Given the description of an element on the screen output the (x, y) to click on. 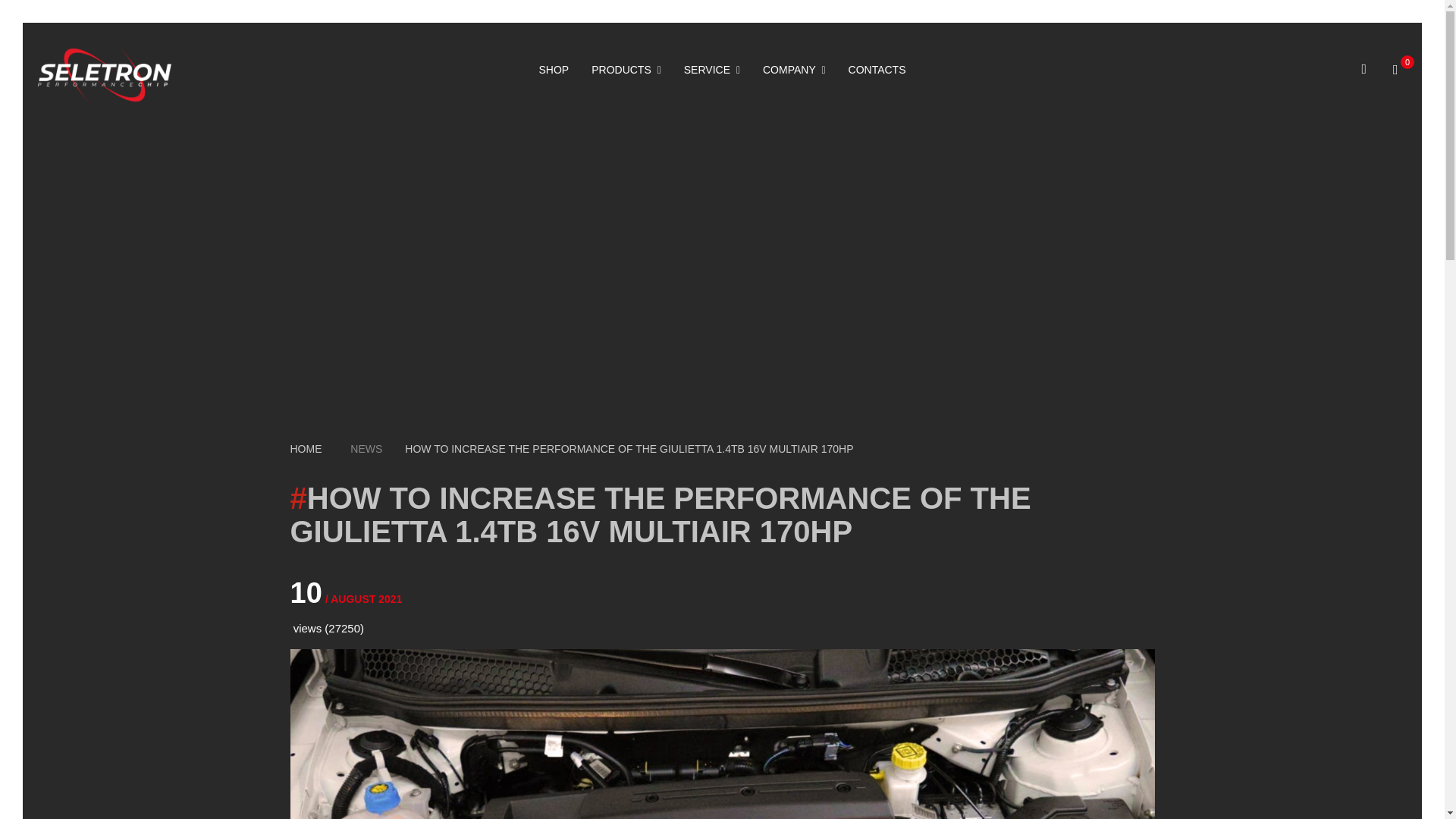
PRODUCTS (626, 69)
Return to Home (305, 448)
COMPANY (793, 69)
CONTACTS (876, 69)
Seletron Performance (104, 74)
SHOP (553, 69)
SERVICE (711, 69)
